Given the description of an element on the screen output the (x, y) to click on. 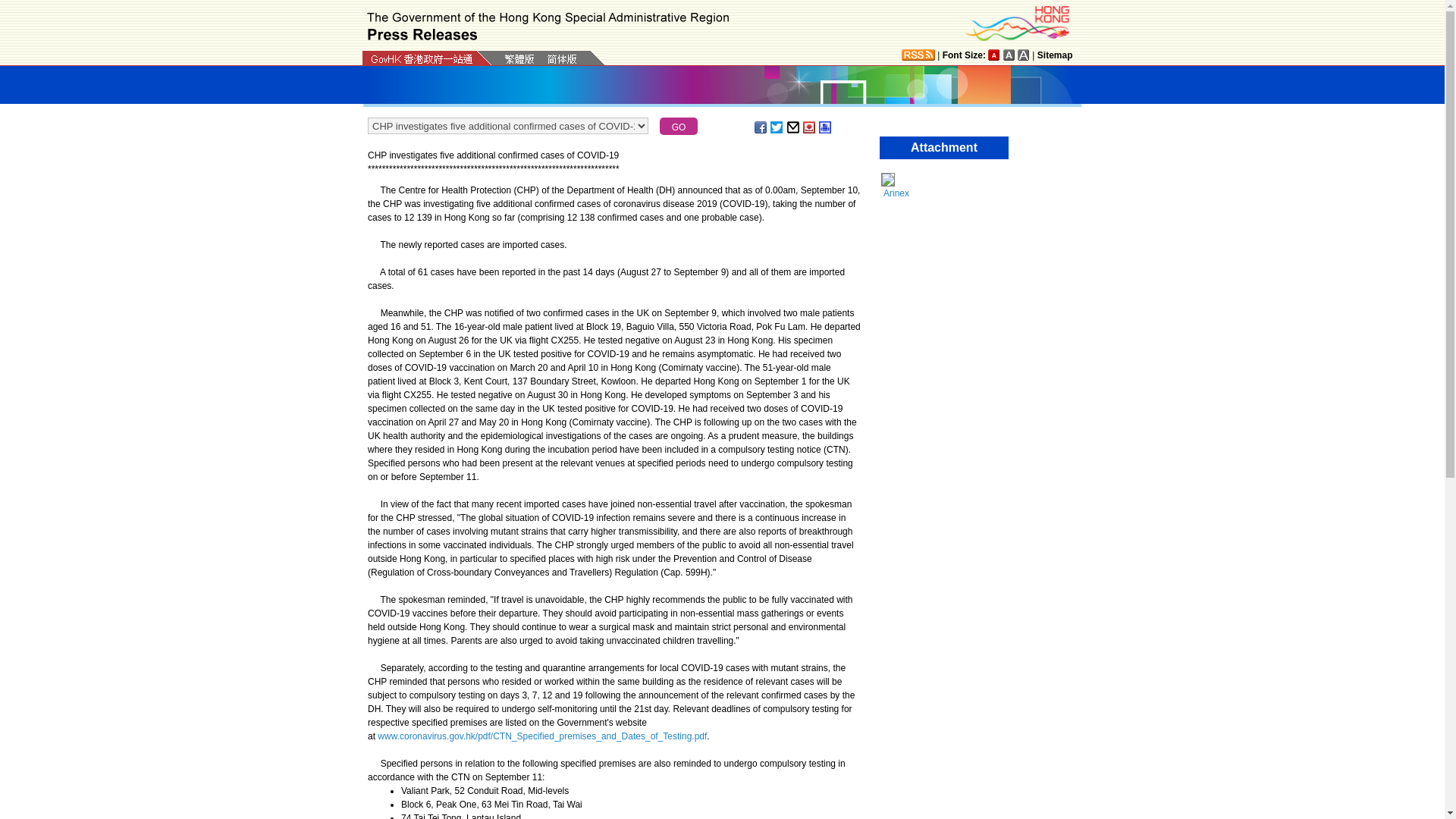
Default font size (994, 54)
Simplified Chinese (561, 59)
Larger font size (1008, 54)
Sitemap (1054, 54)
Annex (947, 192)
Print (825, 127)
GO (678, 126)
Share on Facebook (761, 127)
GO (678, 126)
Email (793, 127)
Share on Twitter (777, 127)
Largest font size (1023, 54)
Save (809, 127)
Traditional Chinese (519, 58)
